Given the description of an element on the screen output the (x, y) to click on. 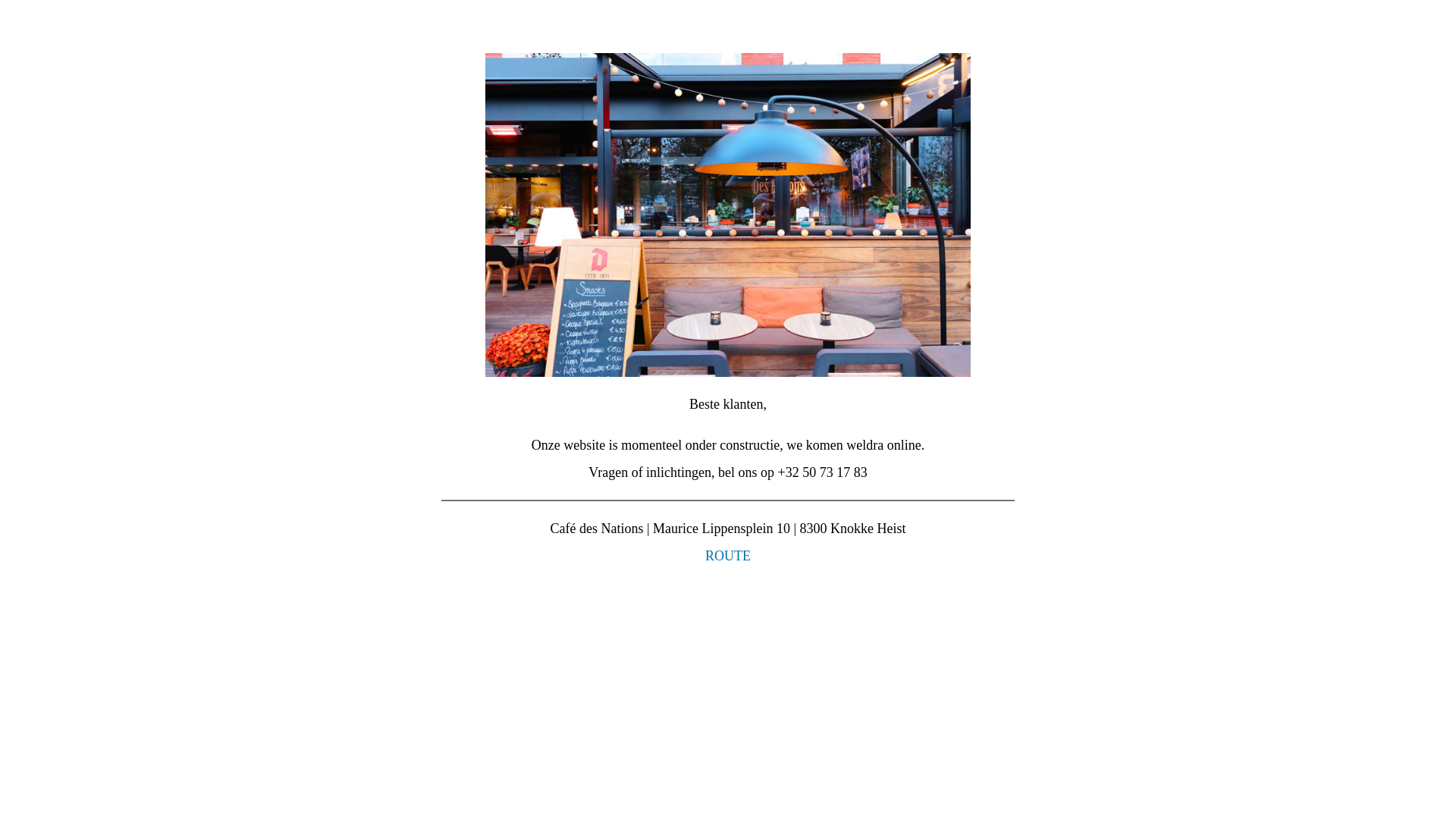
ROUTE Element type: text (727, 555)
